Given the description of an element on the screen output the (x, y) to click on. 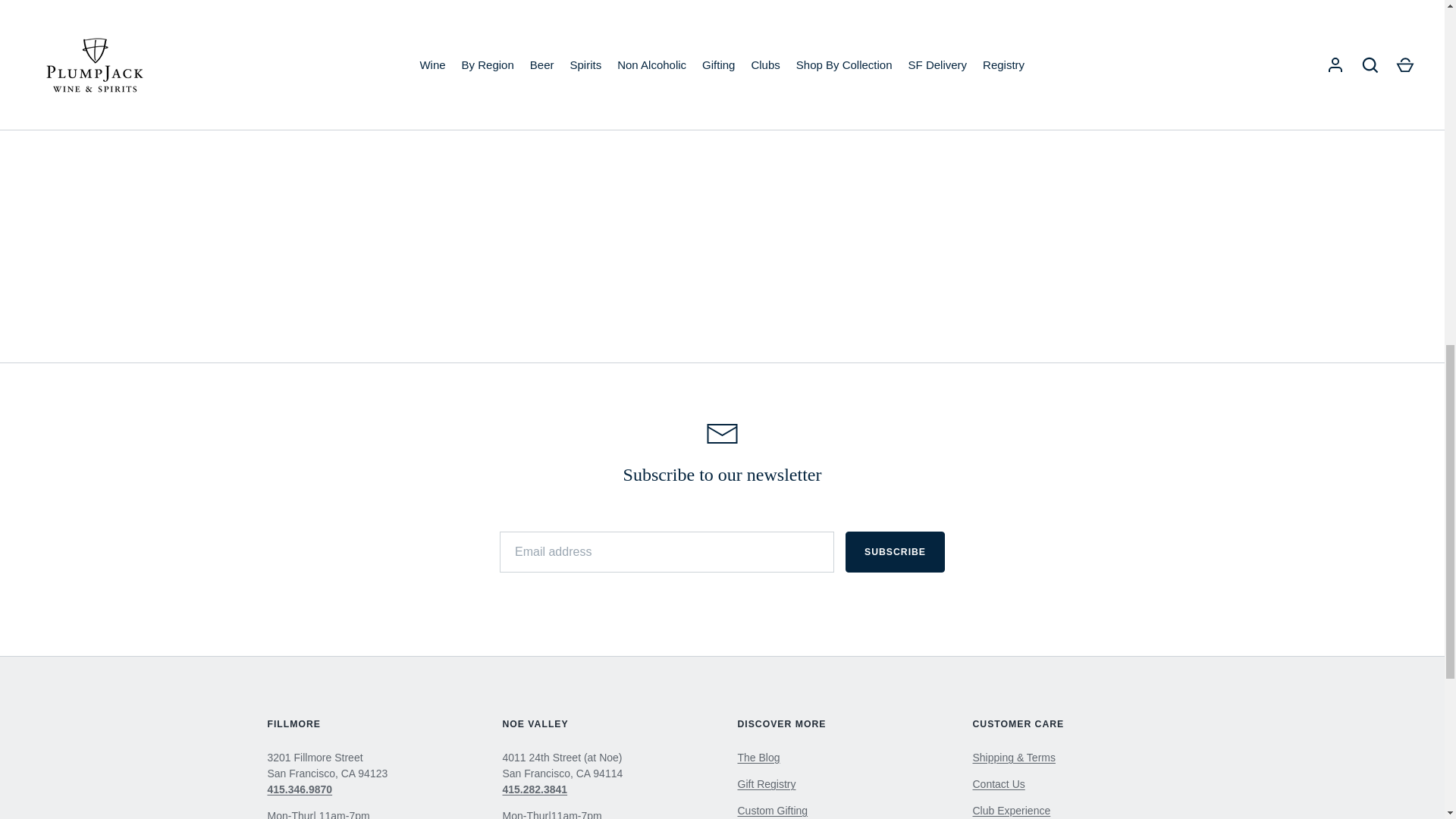
Club Corner (757, 757)
Gift Registry (765, 784)
Club Experience (1010, 810)
Visit Us (998, 784)
tel:415.346.9870 (298, 788)
tel:415.282.3841 (534, 788)
Email (722, 433)
